Given the description of an element on the screen output the (x, y) to click on. 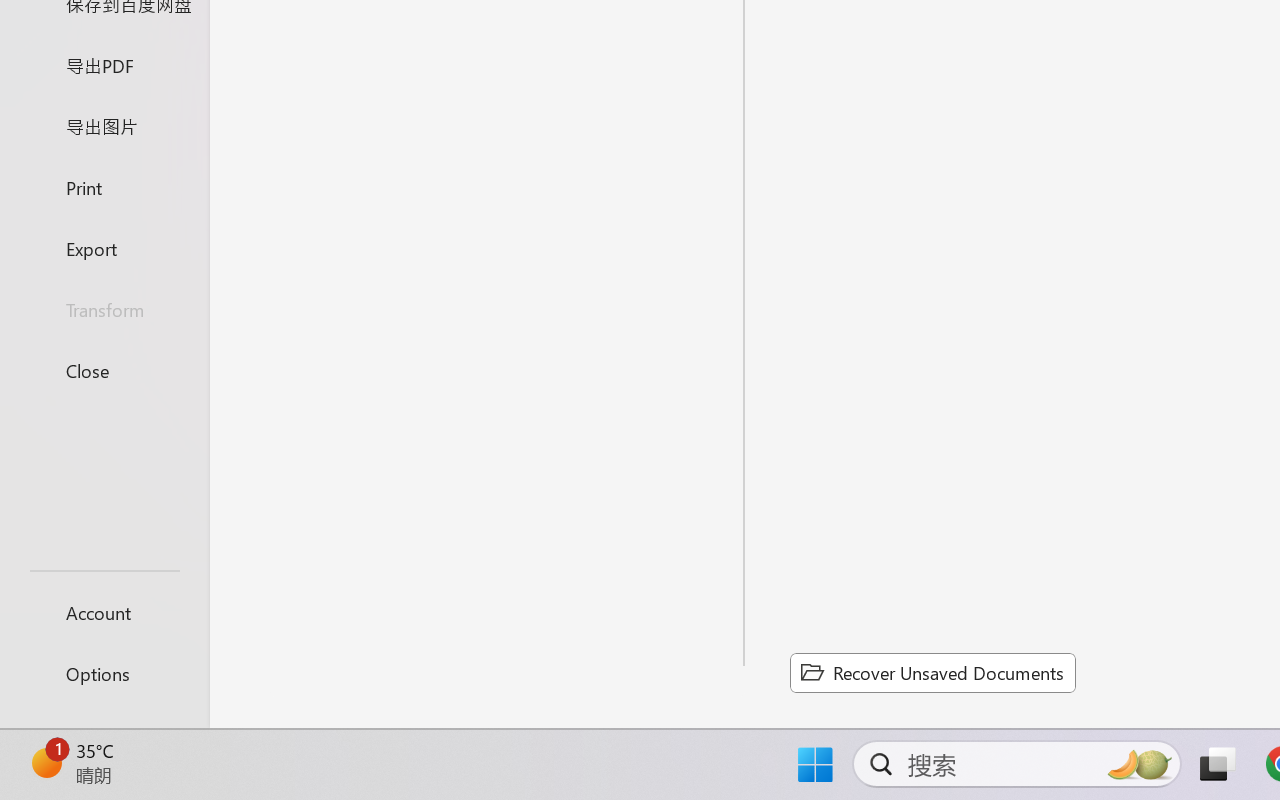
Export (104, 248)
Transform (104, 309)
Recover Unsaved Documents (932, 672)
Account (104, 612)
Options (104, 673)
Print (104, 186)
